Given the description of an element on the screen output the (x, y) to click on. 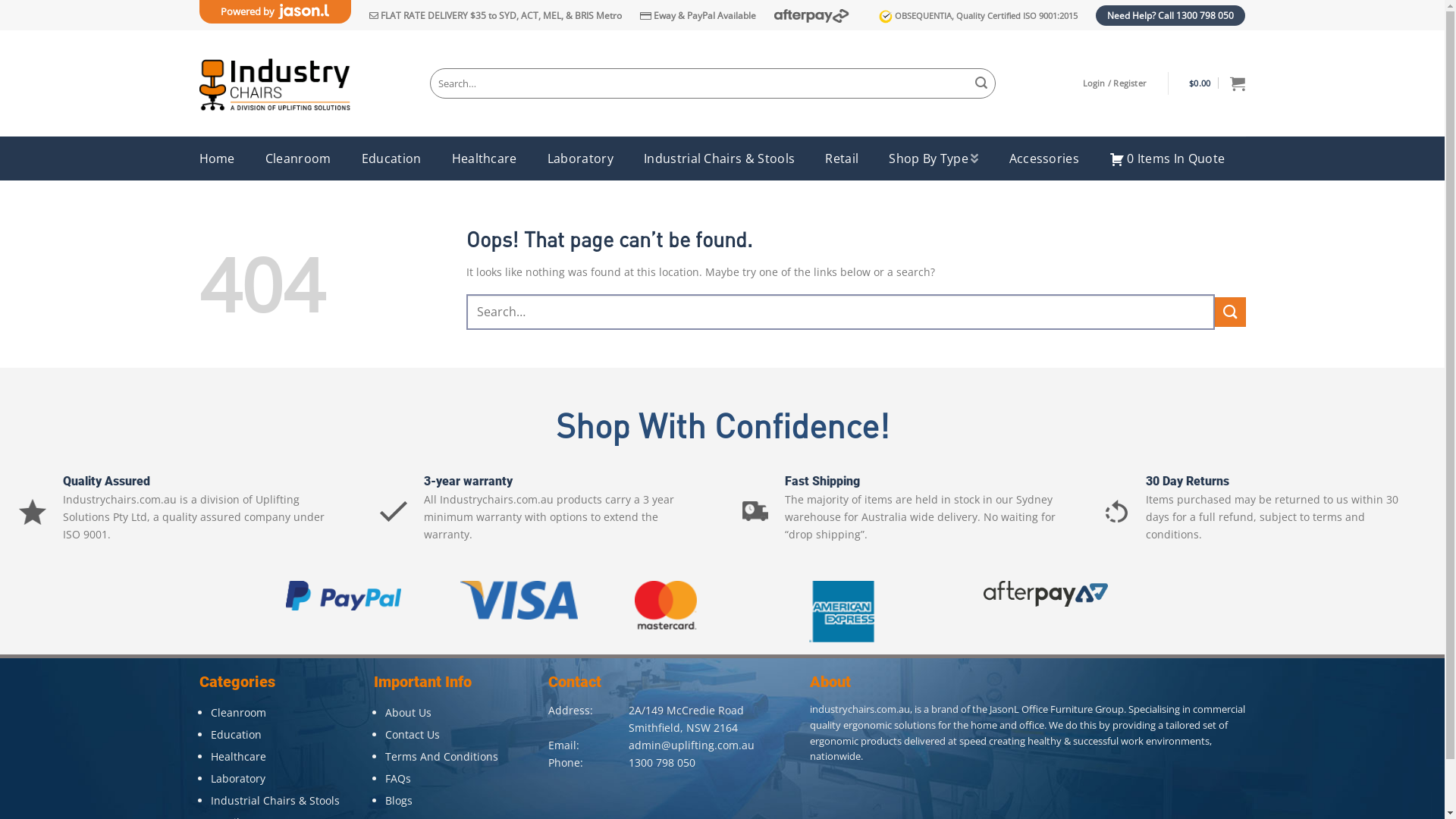
Need Help? Call 1300 798 050 Element type: text (1170, 14)
Laboratory Element type: text (580, 158)
Healthcare Element type: text (238, 756)
Home Element type: text (216, 158)
Retail Element type: text (841, 158)
Laboratory Element type: text (237, 778)
$0.00 Element type: text (1217, 83)
Shop By Type Element type: text (933, 158)
Contact Us Element type: text (412, 734)
0 Items In Quote Element type: text (1166, 158)
About Us Element type: text (408, 712)
Accessories Element type: text (1044, 158)
Login / Register Element type: text (1114, 83)
Industrial Chairs & Stools Element type: text (718, 158)
Cleanroom Element type: text (238, 712)
FAQs Element type: text (398, 778)
Healthcare Element type: text (484, 158)
Search Element type: text (981, 83)
Education Element type: text (235, 734)
Industrial Chairs & Stools Element type: text (274, 800)
Terms And Conditions Element type: text (441, 756)
Blogs Element type: text (398, 800)
Cleanroom Element type: text (298, 158)
Education Element type: text (391, 158)
